Given the description of an element on the screen output the (x, y) to click on. 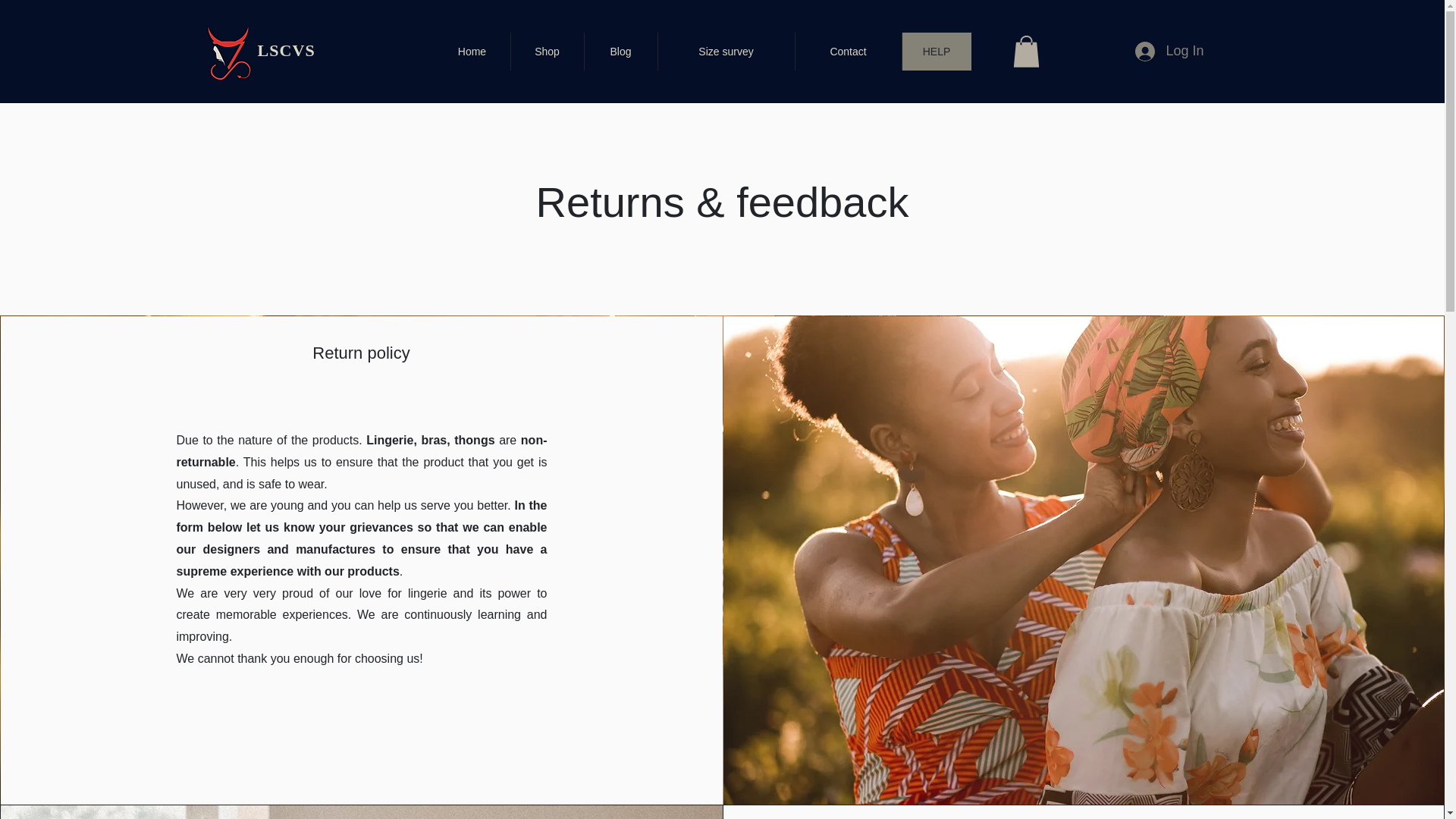
Size survey (724, 51)
Log In (1169, 51)
HELP (936, 51)
Shop (546, 51)
Home (471, 51)
Blog (620, 51)
Contact (847, 51)
